Given the description of an element on the screen output the (x, y) to click on. 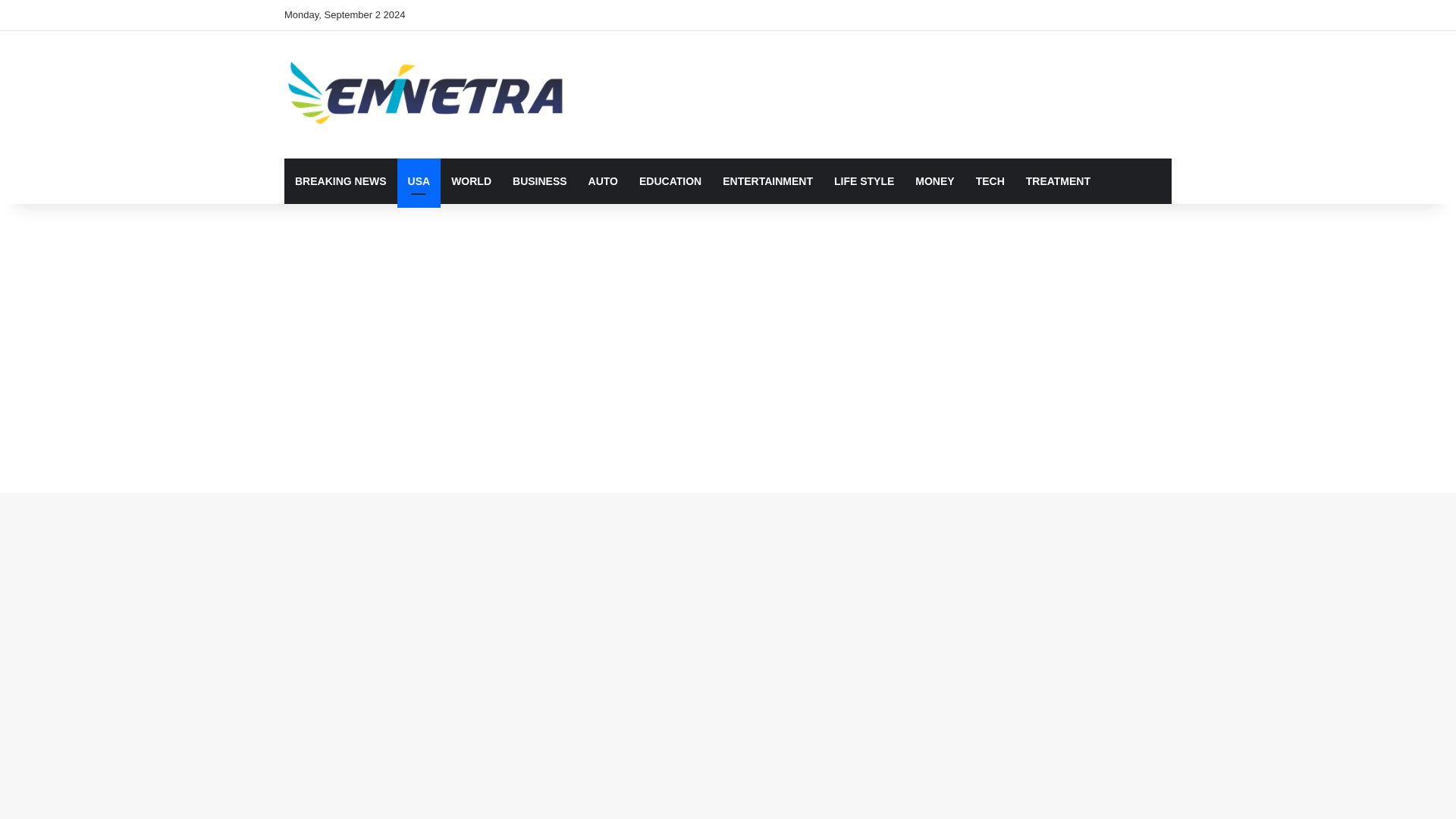
MONEY (933, 180)
Eminetra.com (423, 94)
BUSINESS (540, 180)
TECH (989, 180)
LIFE STYLE (864, 180)
TREATMENT (1057, 180)
USA (419, 180)
EDUCATION (669, 180)
ENTERTAINMENT (767, 180)
BREAKING NEWS (340, 180)
